Given the description of an element on the screen output the (x, y) to click on. 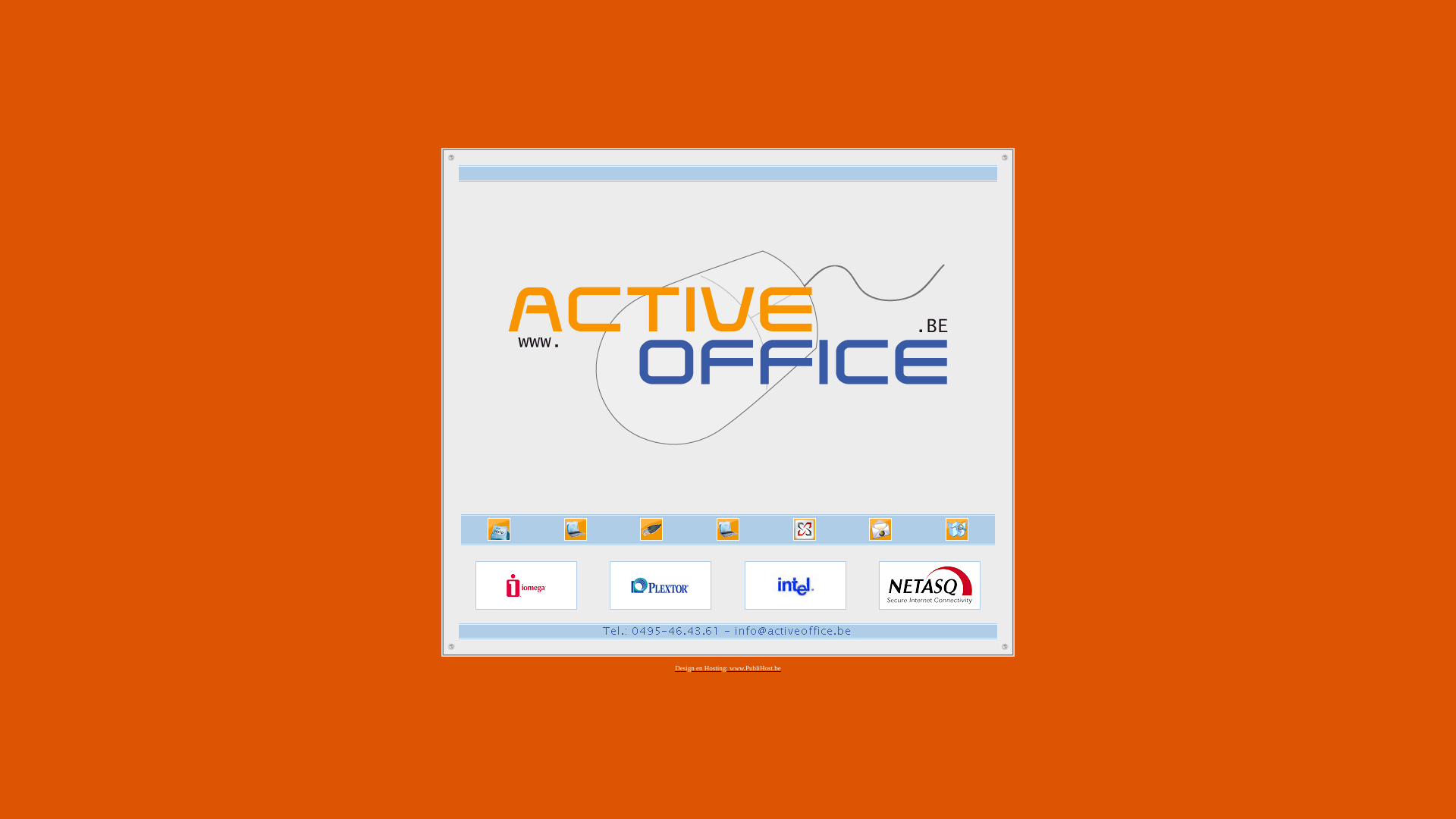
Design en Hosting: www.PubliHost.be Element type: text (727, 669)
